Given the description of an element on the screen output the (x, y) to click on. 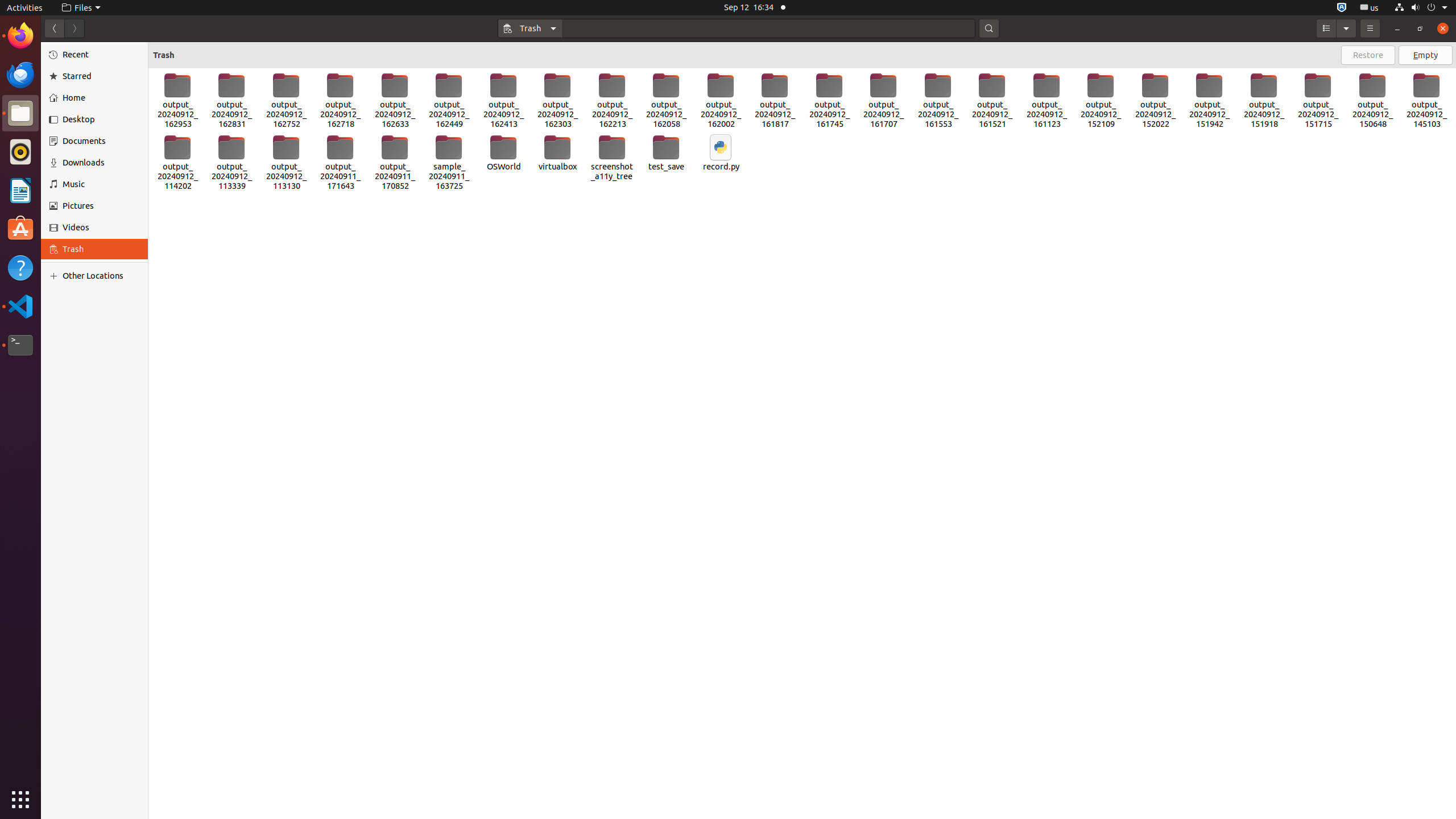
output_20240912_113339 Element type: canvas (231, 162)
output_20240911_171643 Element type: canvas (339, 162)
Icon View Element type: layered-pane (802, 443)
Content View Element type: panel (802, 443)
Music Element type: label (100, 184)
